Given the description of an element on the screen output the (x, y) to click on. 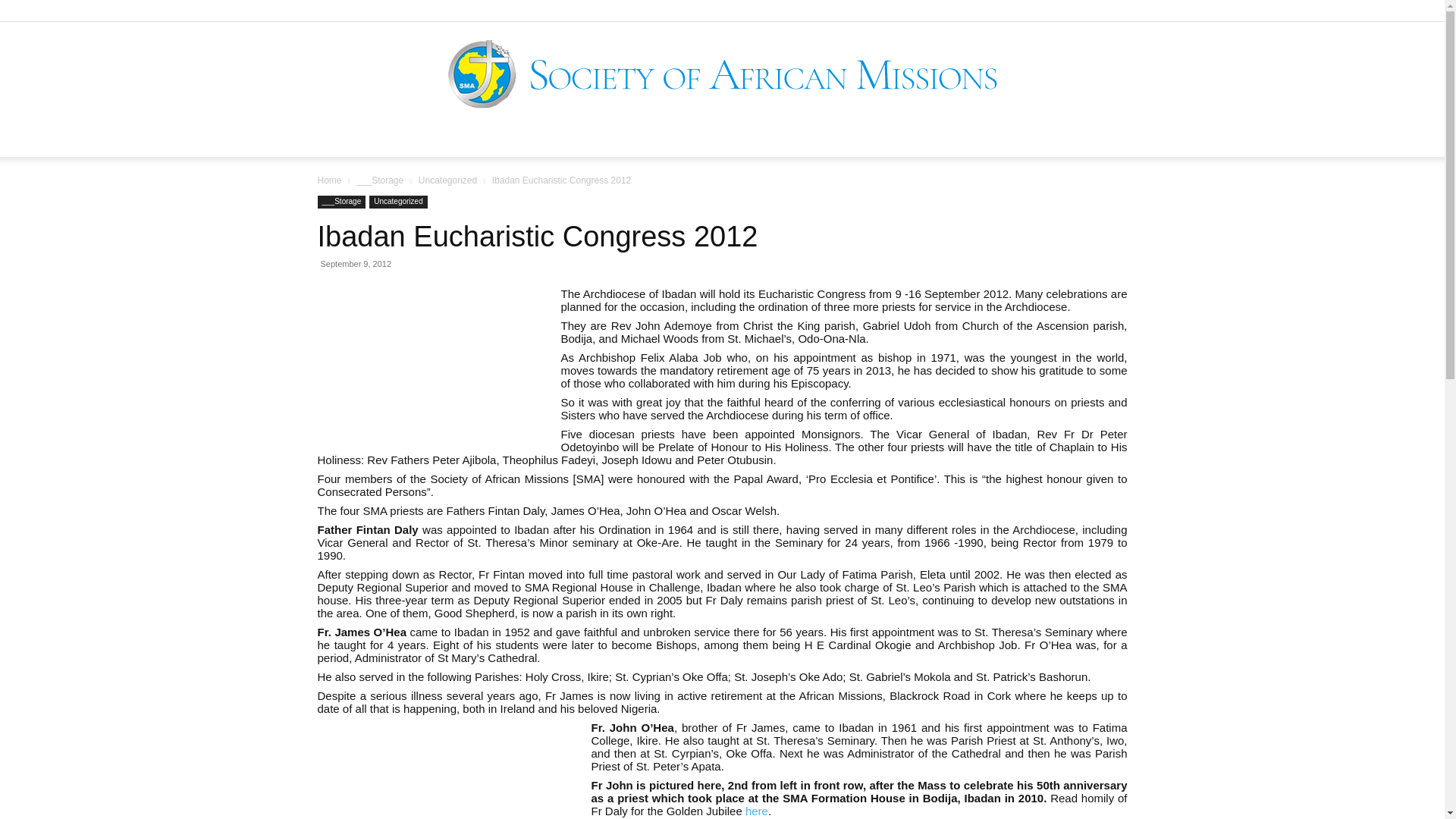
Youtube (1417, 10)
View all posts in Uncategorized (448, 180)
Mail (1367, 10)
Twitter (1393, 10)
Facebook (1343, 10)
